Given the description of an element on the screen output the (x, y) to click on. 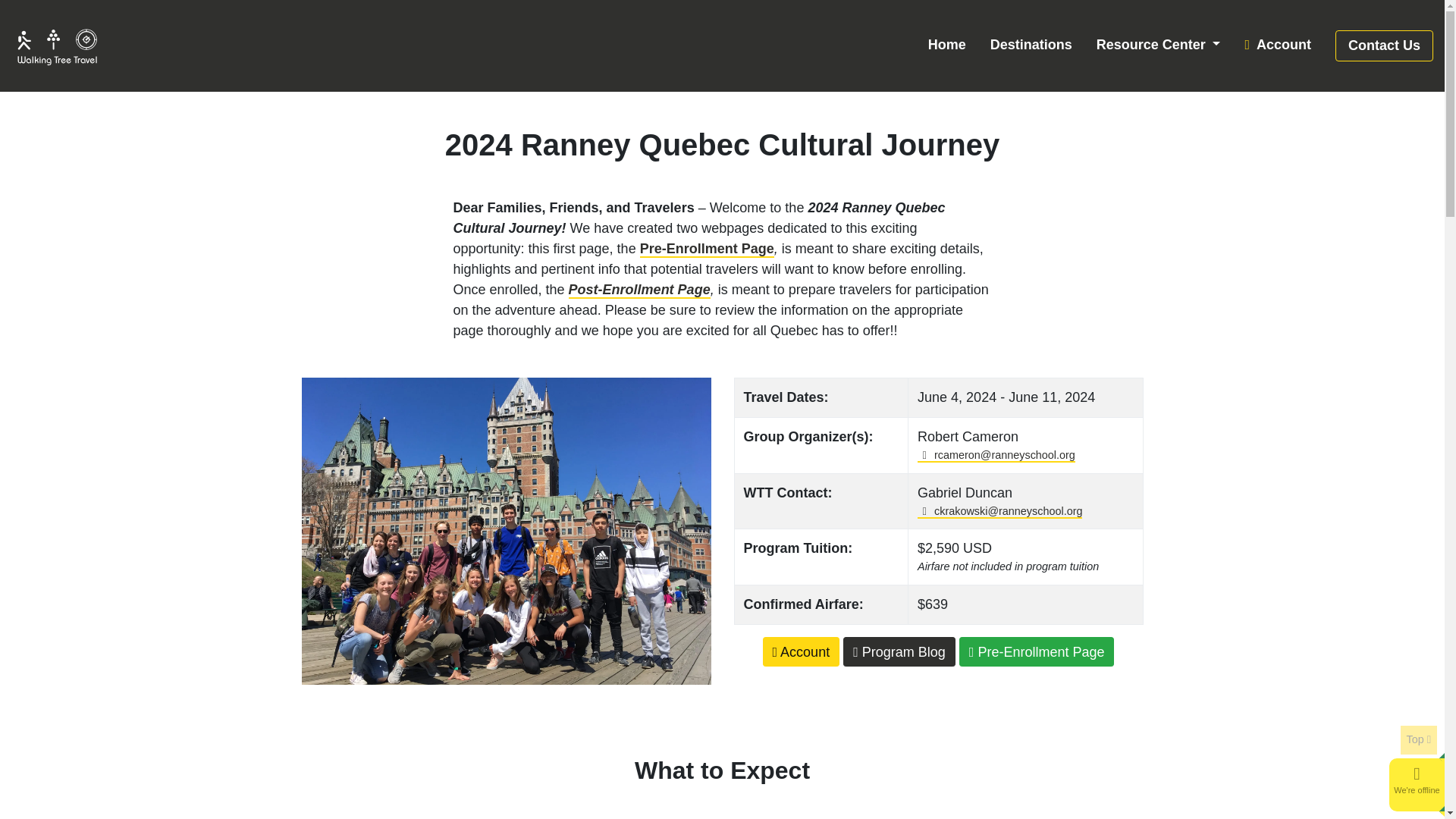
Post-Enrollment Page (639, 289)
Resource Center (1158, 45)
Destinations (1031, 45)
Account (801, 652)
We're offline (1417, 789)
Program Blog (899, 652)
Home (946, 45)
Account (1277, 45)
Resource Center (1158, 45)
Destinations (1031, 45)
Account (1277, 45)
Contact Us (1383, 45)
Pre-Enrollment Page (707, 248)
Contact Us (1383, 45)
Pre-Enrollment Page (1037, 652)
